Given the description of an element on the screen output the (x, y) to click on. 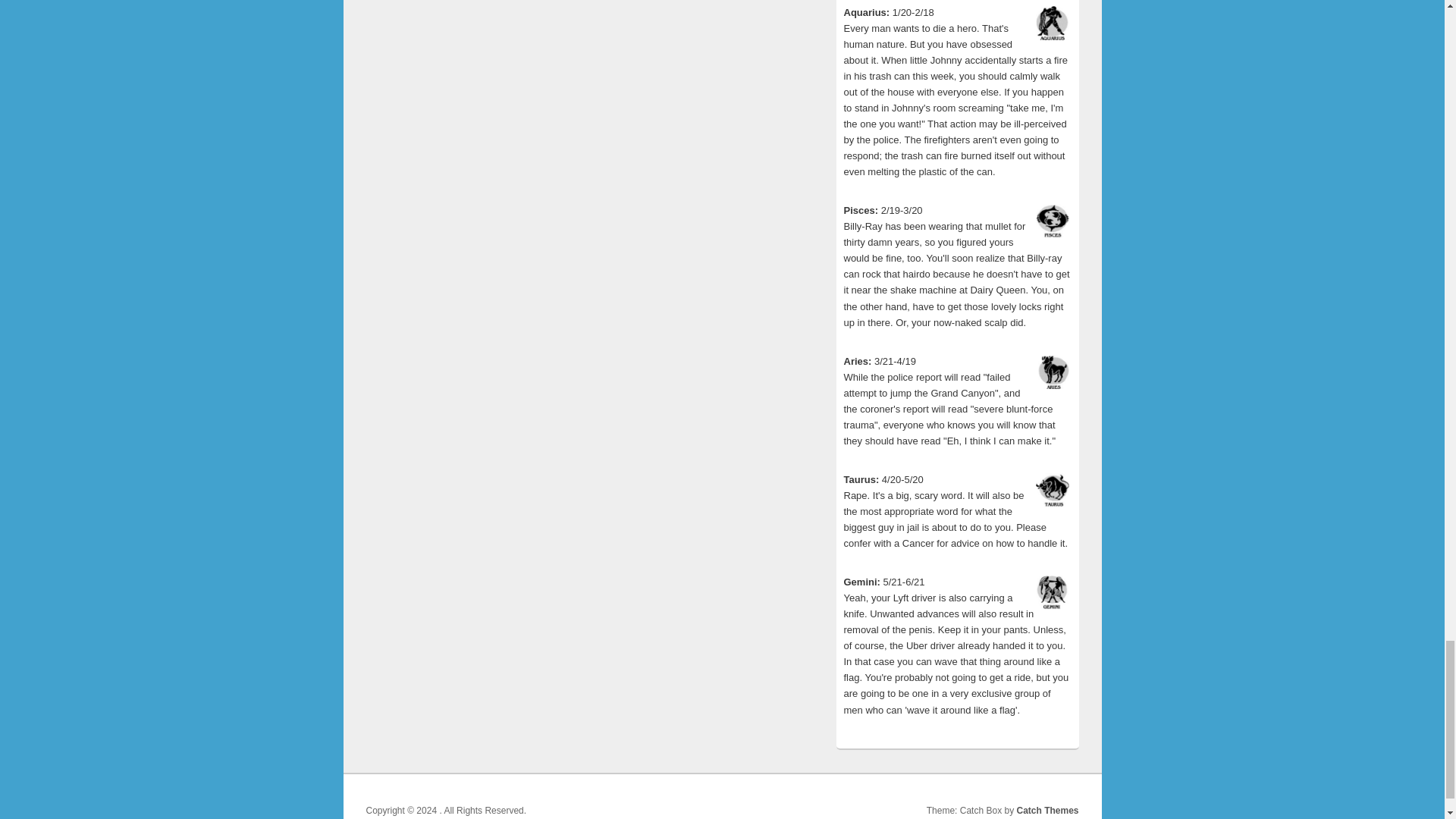
Catch Themes (1047, 810)
